Given the description of an element on the screen output the (x, y) to click on. 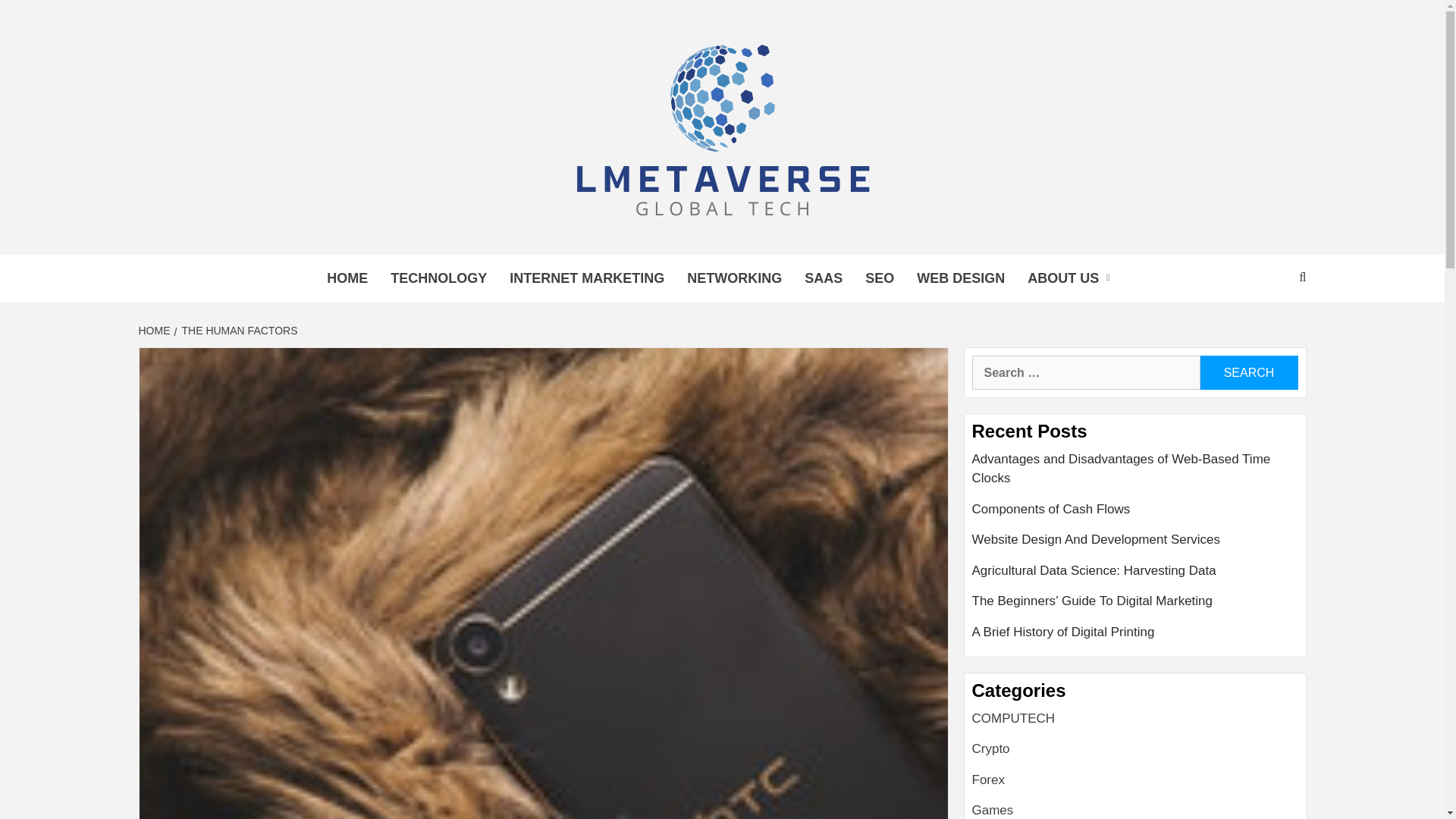
TECHNOLOGY (437, 278)
A Brief History of Digital Printing (1135, 632)
Crypto (991, 748)
ABOUT US (1072, 278)
Forex (988, 780)
Website Design And Development Services (1135, 545)
Games (992, 810)
WEB DESIGN (960, 278)
Advantages and Disadvantages of Web-Based Time Clocks (1135, 474)
NETWORKING (734, 278)
Agricultural Data Science: Harvesting Data (1135, 576)
Search (1248, 372)
LINK META (345, 260)
Search (1248, 372)
